Given the description of an element on the screen output the (x, y) to click on. 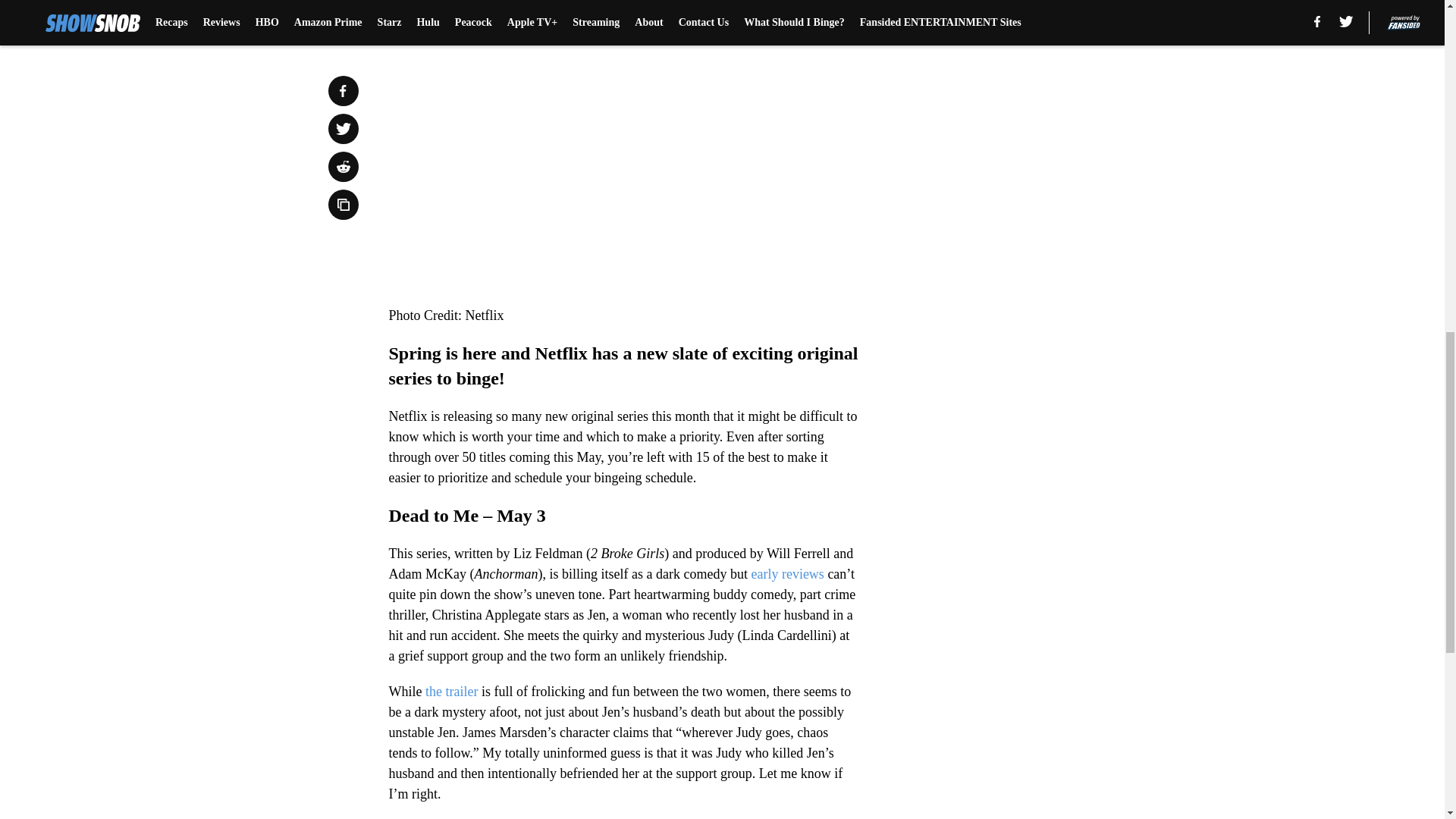
early reviews (787, 573)
the trailer (449, 691)
Next (813, 5)
Prev (433, 5)
